Given the description of an element on the screen output the (x, y) to click on. 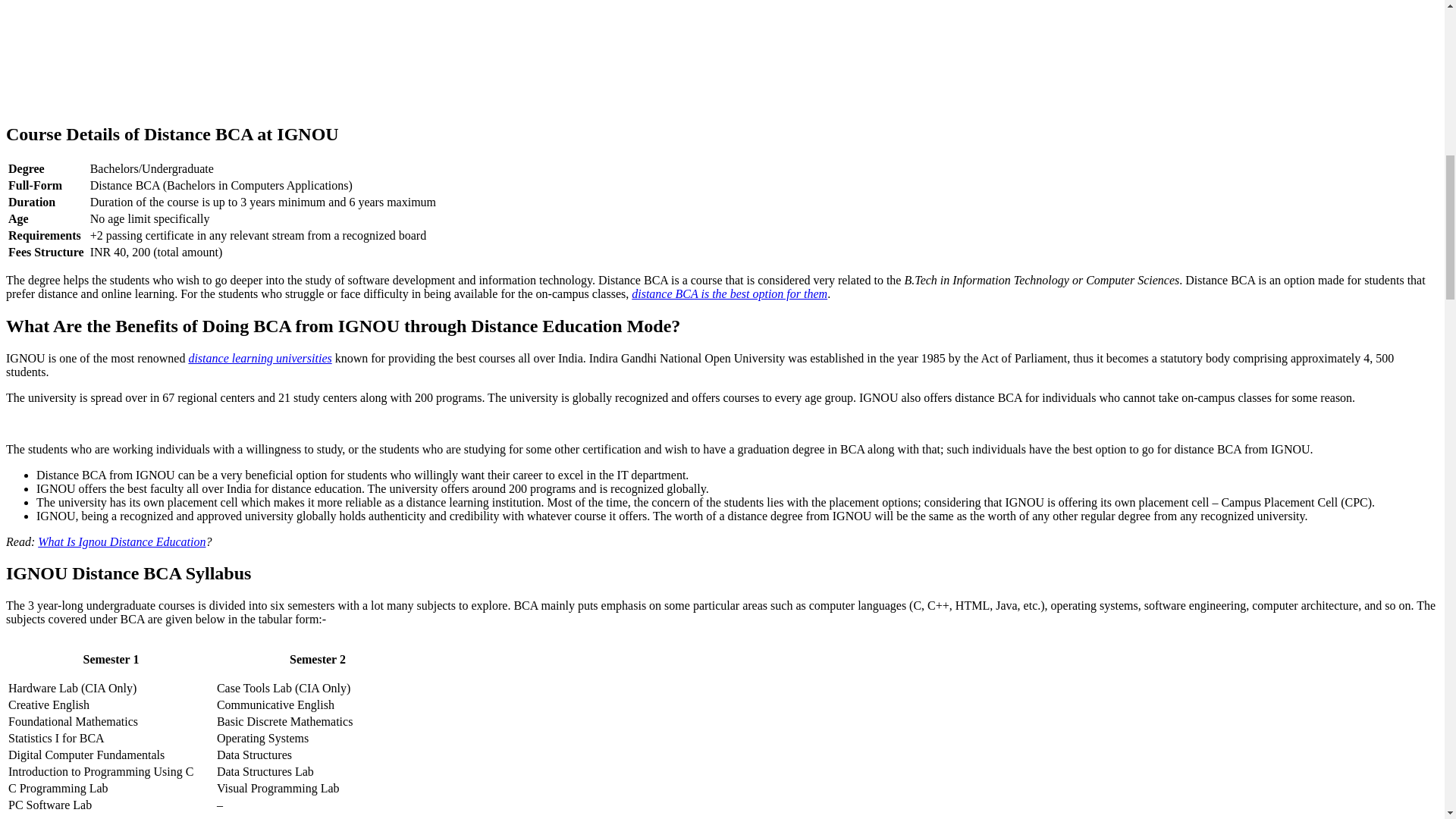
What Is Ignou Distance Education (121, 541)
distance BCA is the best option for them (729, 293)
distance learning universities (259, 358)
